Given the description of an element on the screen output the (x, y) to click on. 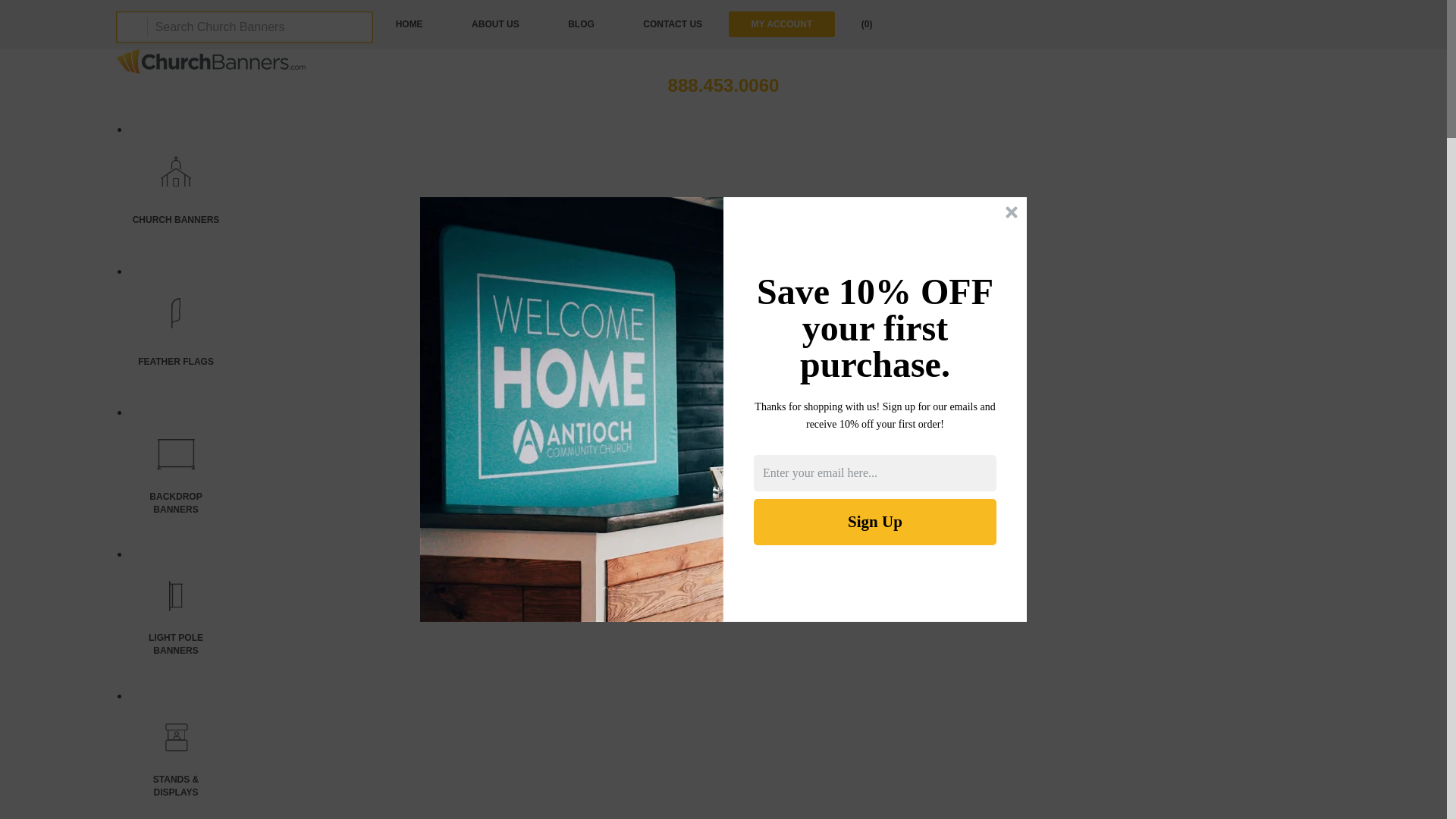
888.453.0060 (724, 81)
ABOUT US (494, 23)
CONTACT US (672, 23)
ChurchBanners.com (210, 61)
BLOG (580, 23)
HOME (408, 23)
MY ACCOUNT (782, 23)
CHURCH BANNERS (175, 189)
